Given the description of an element on the screen output the (x, y) to click on. 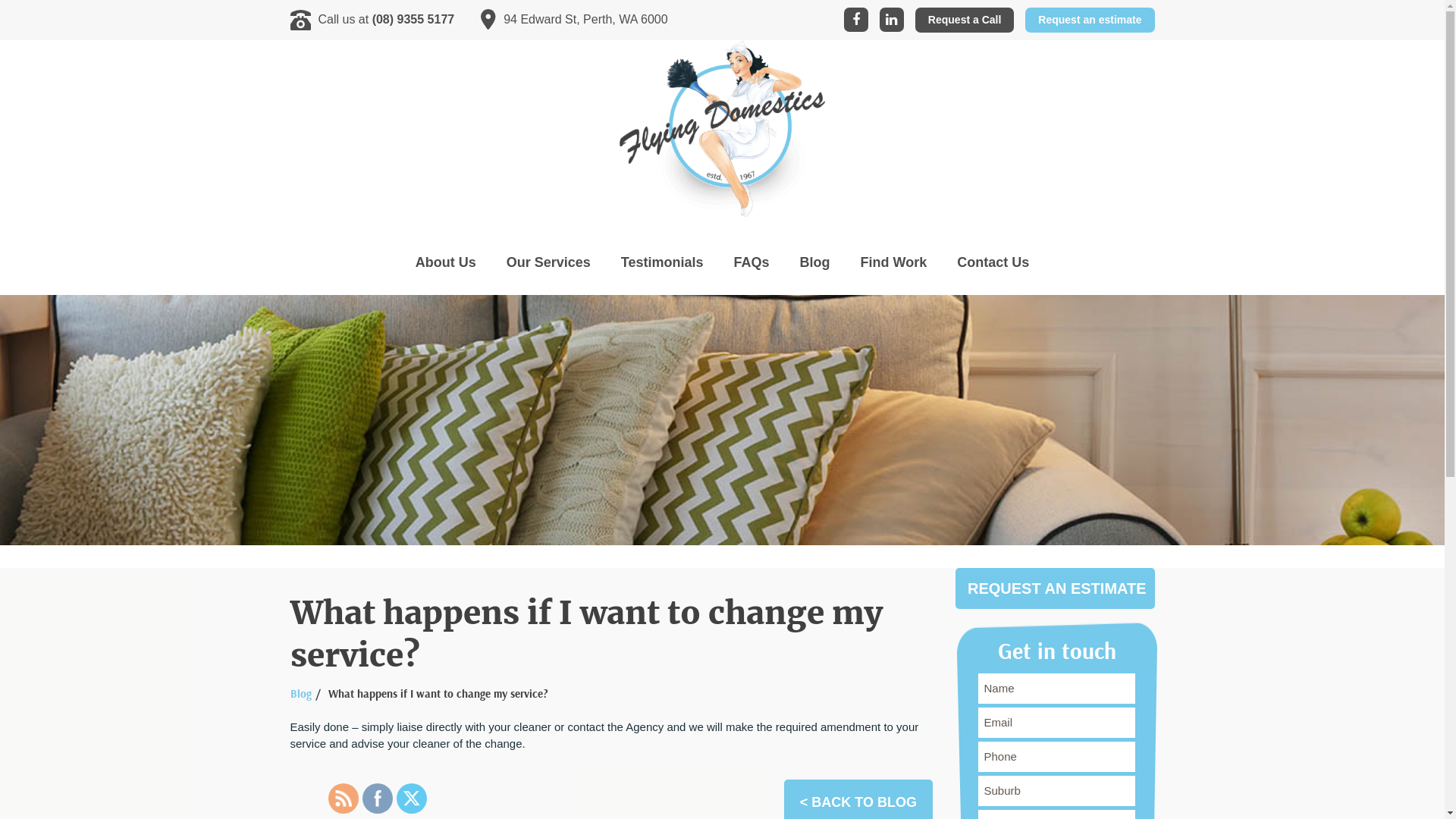
Twitter Element type: hover (411, 798)
Call us at (08) 9355 5177 Element type: text (371, 19)
Facebook Element type: hover (376, 798)
Blog Element type: text (299, 694)
Contact Us Element type: text (993, 261)
Testimonials Element type: text (662, 261)
FAQs Element type: text (751, 261)
Find Work Element type: text (893, 261)
RSS Element type: hover (343, 798)
Our Services Element type: text (548, 261)
REQUEST AN ESTIMATE Element type: text (1054, 587)
Blog Element type: text (815, 261)
Submit Element type: text (42, 14)
Request a Call Element type: text (964, 19)
Flying domestics Element type: hover (722, 129)
94 Edward St, Perth, WA 6000 Element type: text (573, 19)
Request an estimate Element type: text (1089, 19)
About Us Element type: text (445, 261)
